Given the description of an element on the screen output the (x, y) to click on. 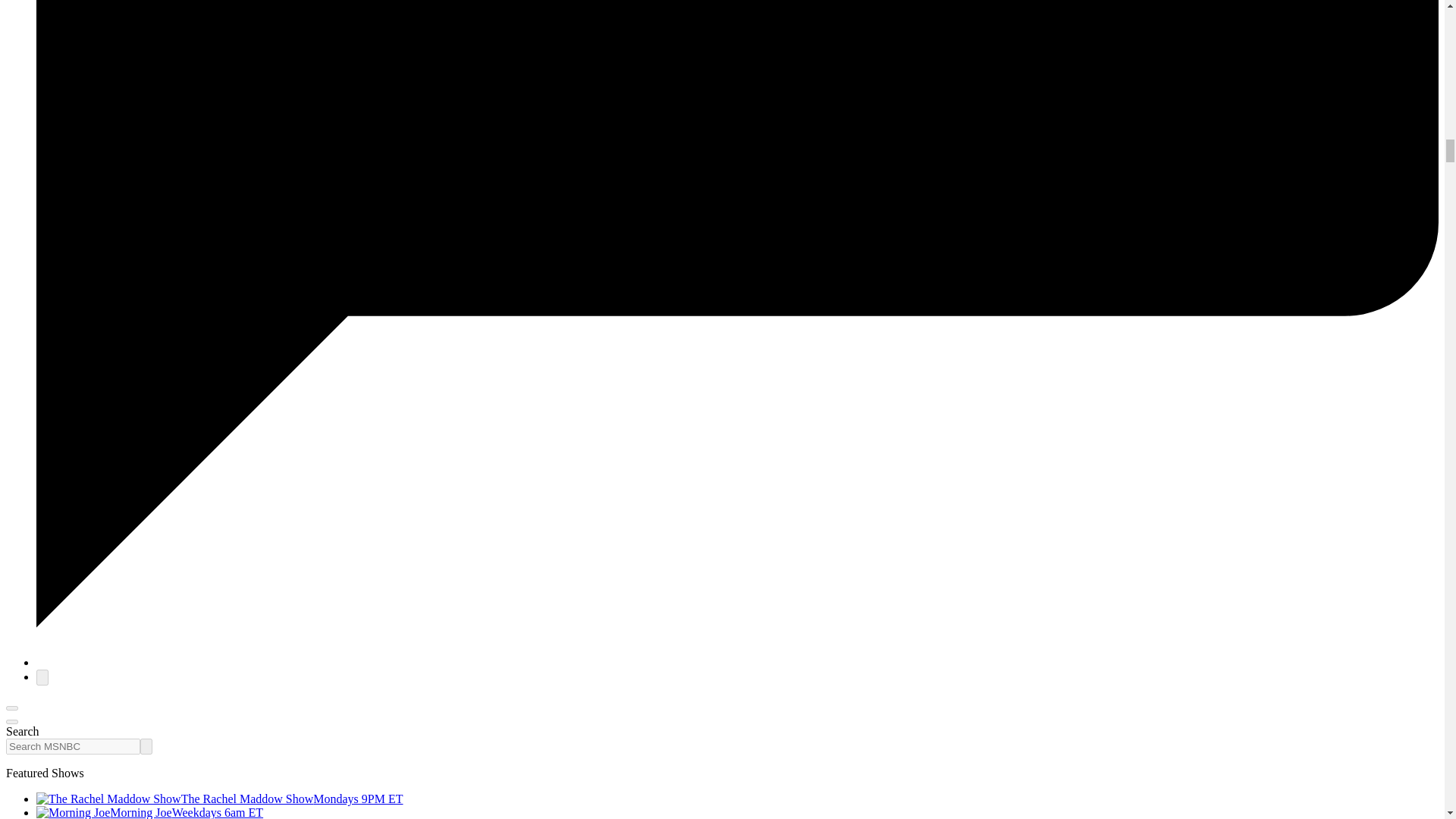
Search (145, 746)
Morning JoeWeekdays 6am ET (149, 812)
The Rachel Maddow ShowMondays 9PM ET (219, 798)
